Given the description of an element on the screen output the (x, y) to click on. 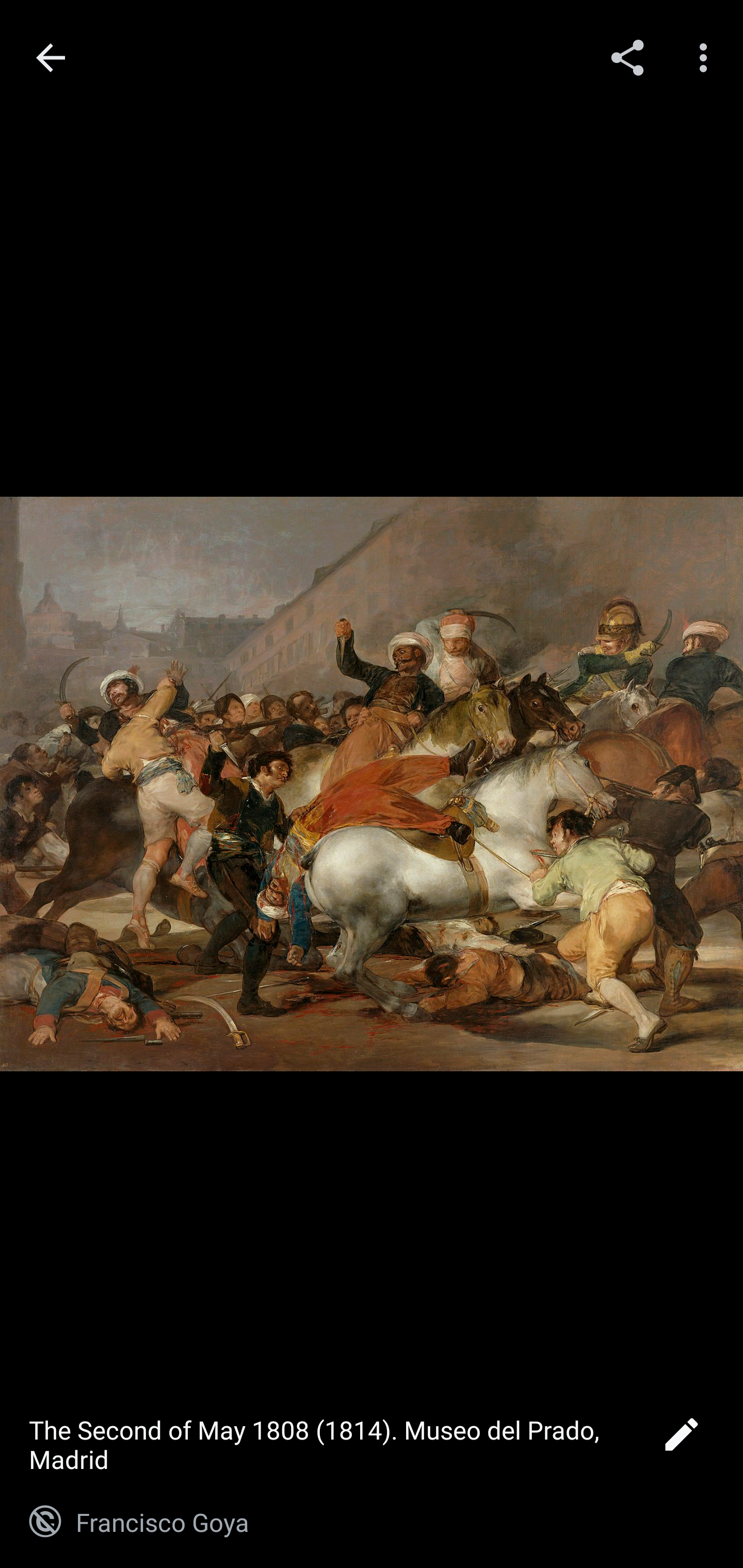
Navigate up (50, 57)
Share (626, 57)
More options (706, 57)
Edit image caption (681, 1439)
Public domain (44, 1521)
